Given the description of an element on the screen output the (x, y) to click on. 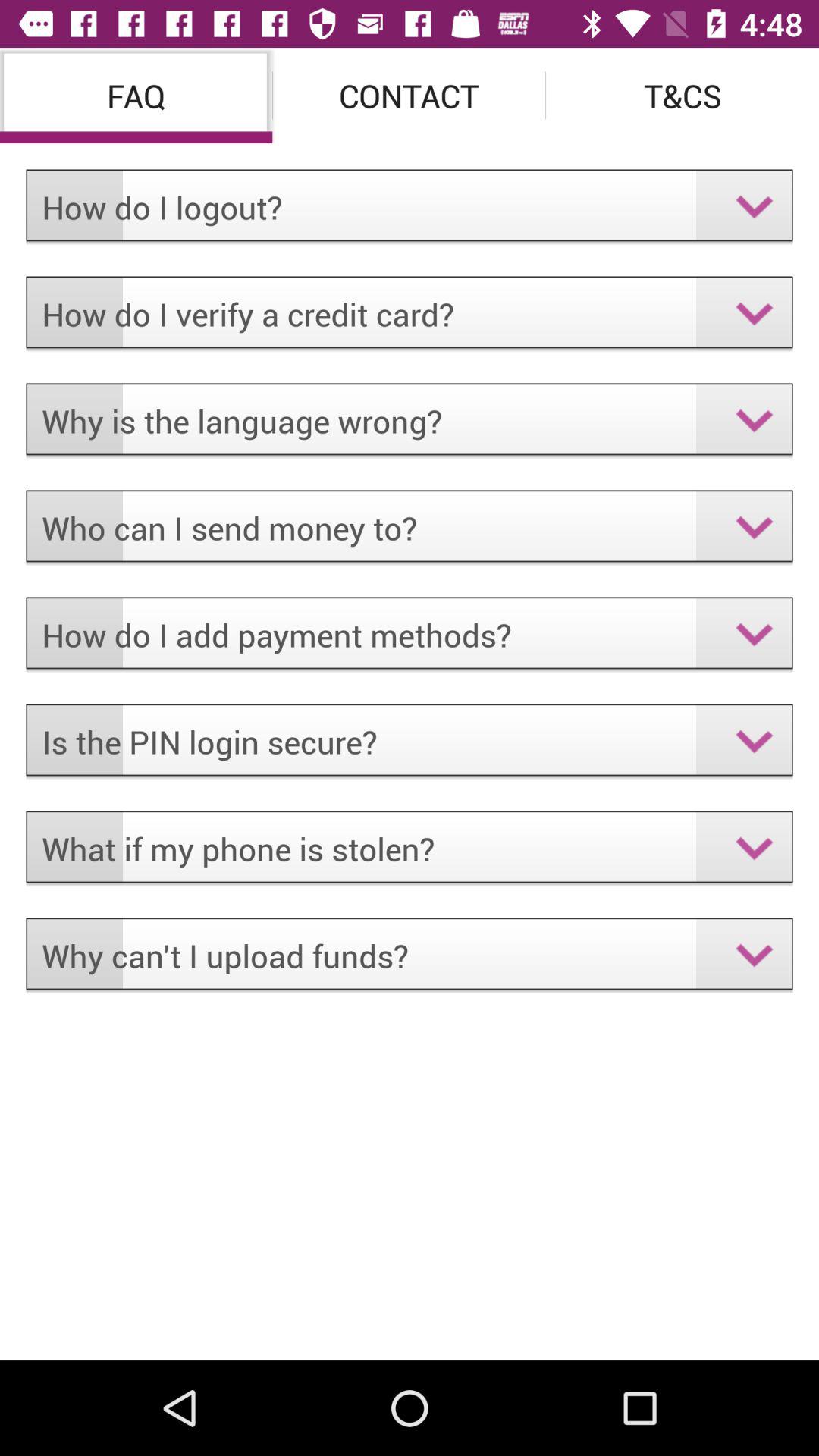
launch icon above the how do i icon (682, 95)
